Given the description of an element on the screen output the (x, y) to click on. 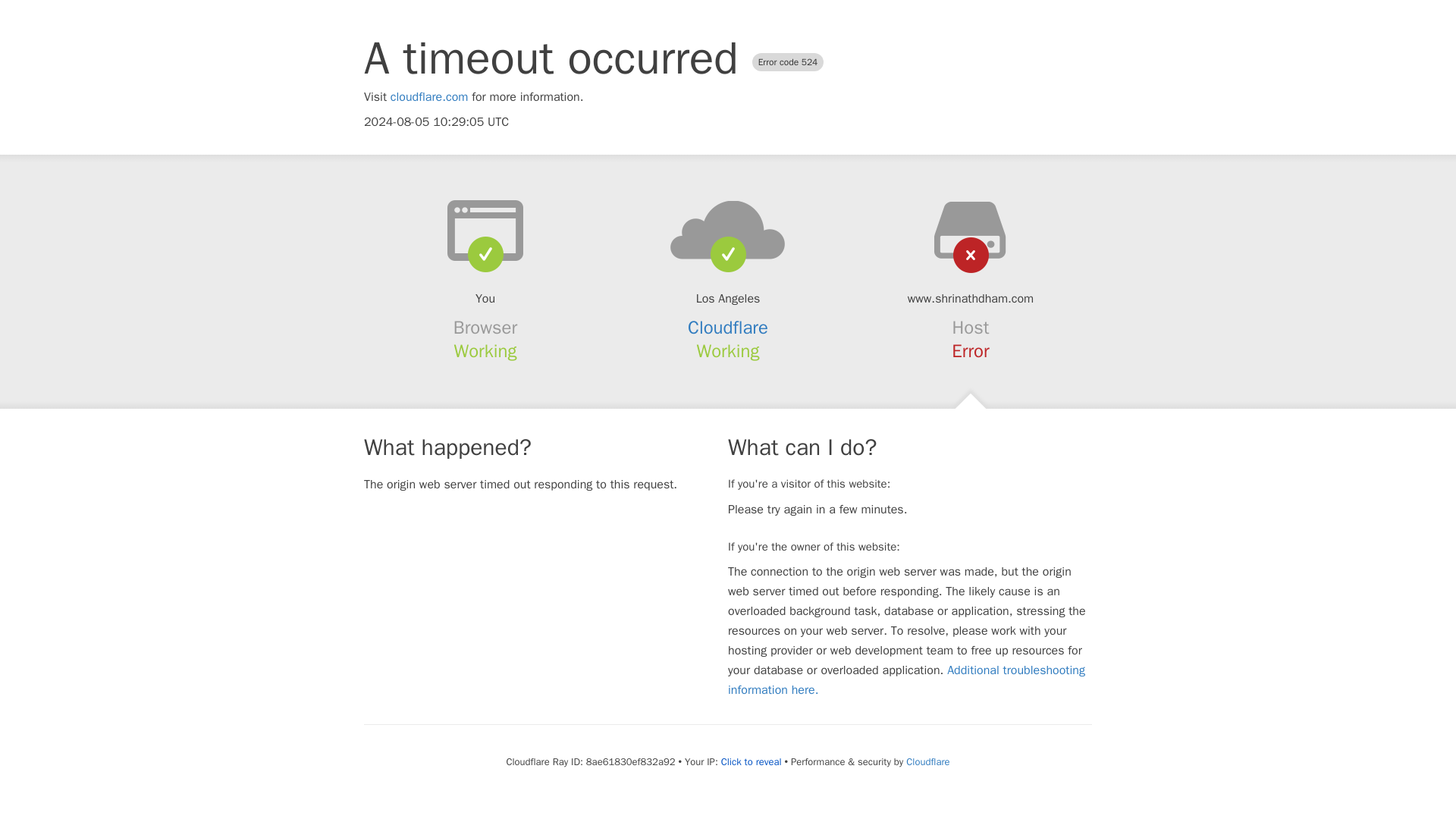
cloudflare.com (429, 96)
Click to reveal (750, 762)
Cloudflare (927, 761)
Cloudflare (727, 327)
Additional troubleshooting information here. (906, 679)
